Given the description of an element on the screen output the (x, y) to click on. 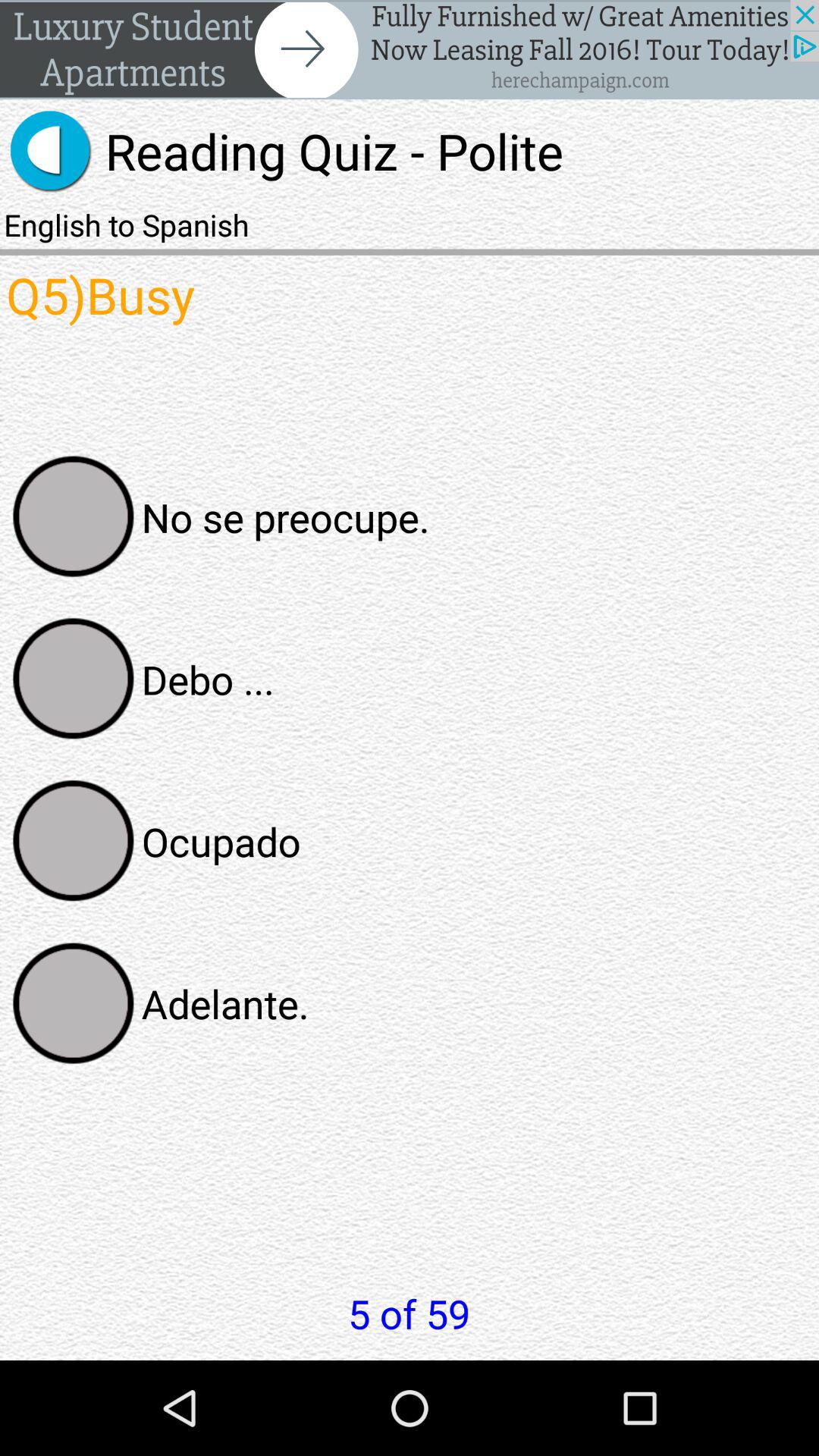
select question answers (73, 678)
